Given the description of an element on the screen output the (x, y) to click on. 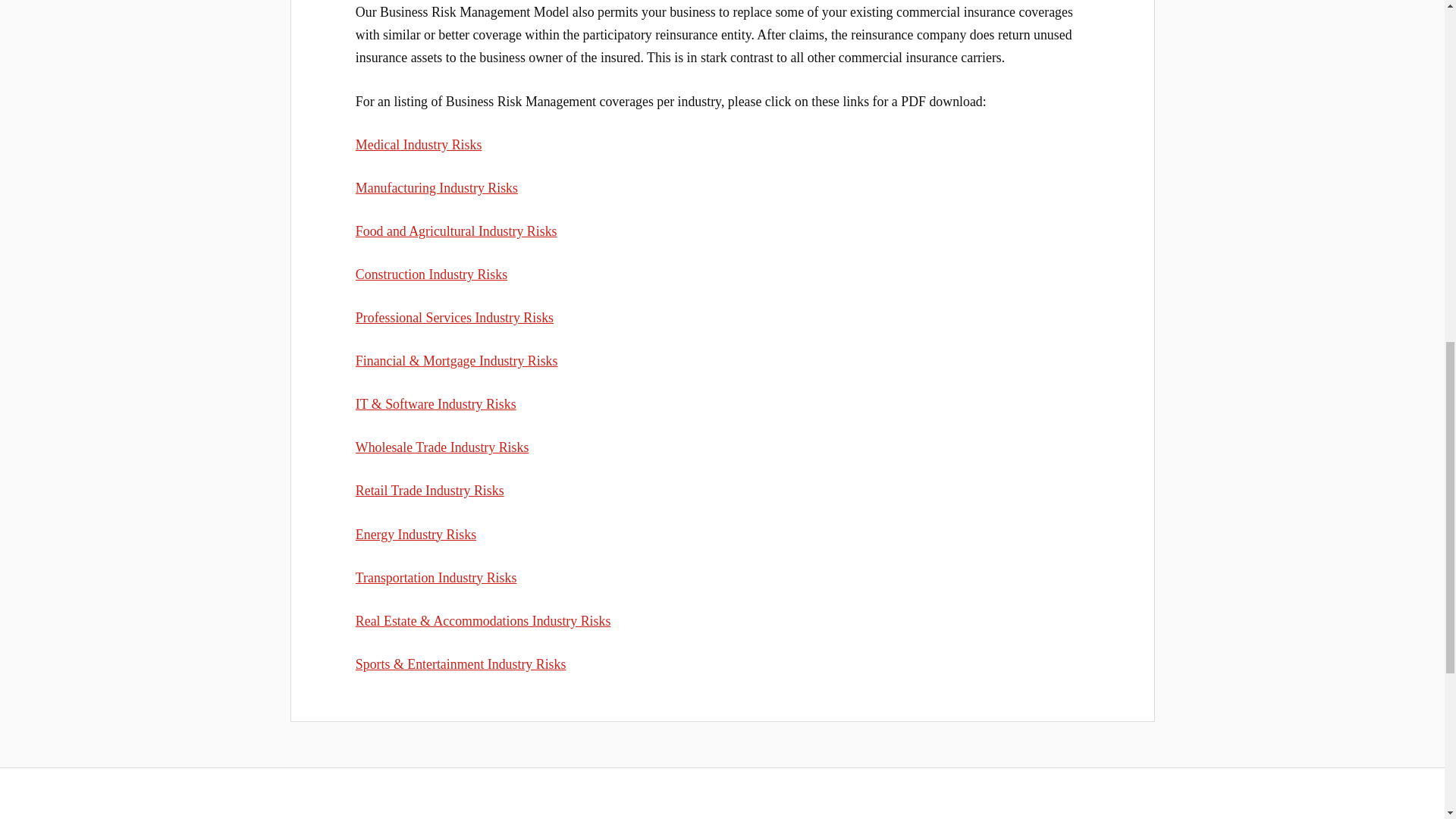
Food and Agricultural Industry Risks (456, 231)
Energy Industry Risks (415, 533)
Retail Trade Industry Risks (429, 490)
Wholesale Trade Industry Risks (441, 447)
Professional Services Industry Risks (454, 317)
Construction Industry Risks (430, 273)
Manufacturing Industry Risks (436, 187)
Medical Industry Risks (418, 144)
Transportation Industry Risks (435, 577)
